Given the description of an element on the screen output the (x, y) to click on. 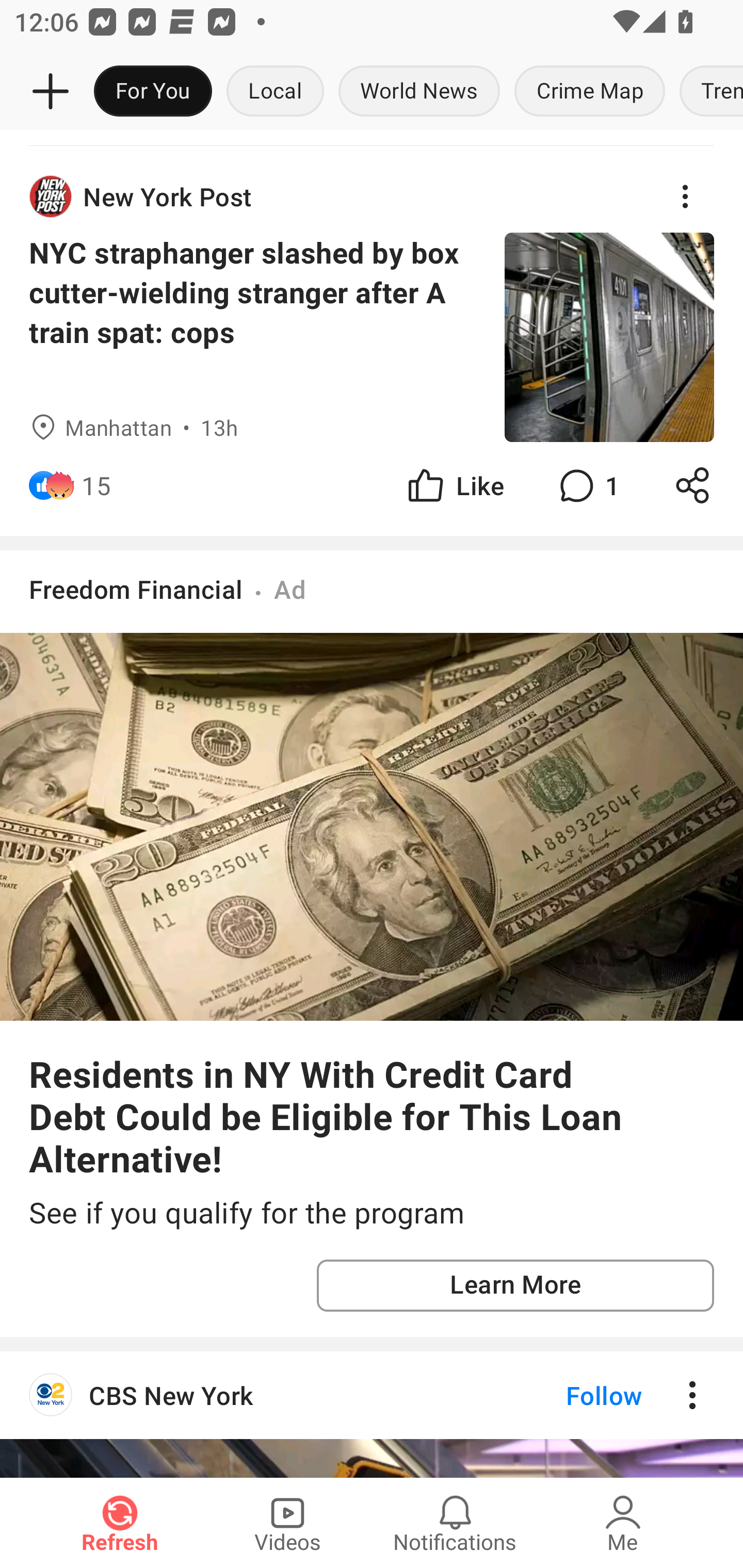
For You (152, 91)
Local (275, 91)
World News (419, 91)
Crime Map (589, 91)
15 (95, 485)
Like (454, 485)
1 (587, 485)
Freedom Financial (135, 589)
See if you qualify for the program (371, 1213)
Learn More (515, 1285)
CBS New York Follow (371, 1395)
Follow (569, 1395)
Videos (287, 1522)
Notifications (455, 1522)
Me (622, 1522)
